Given the description of an element on the screen output the (x, y) to click on. 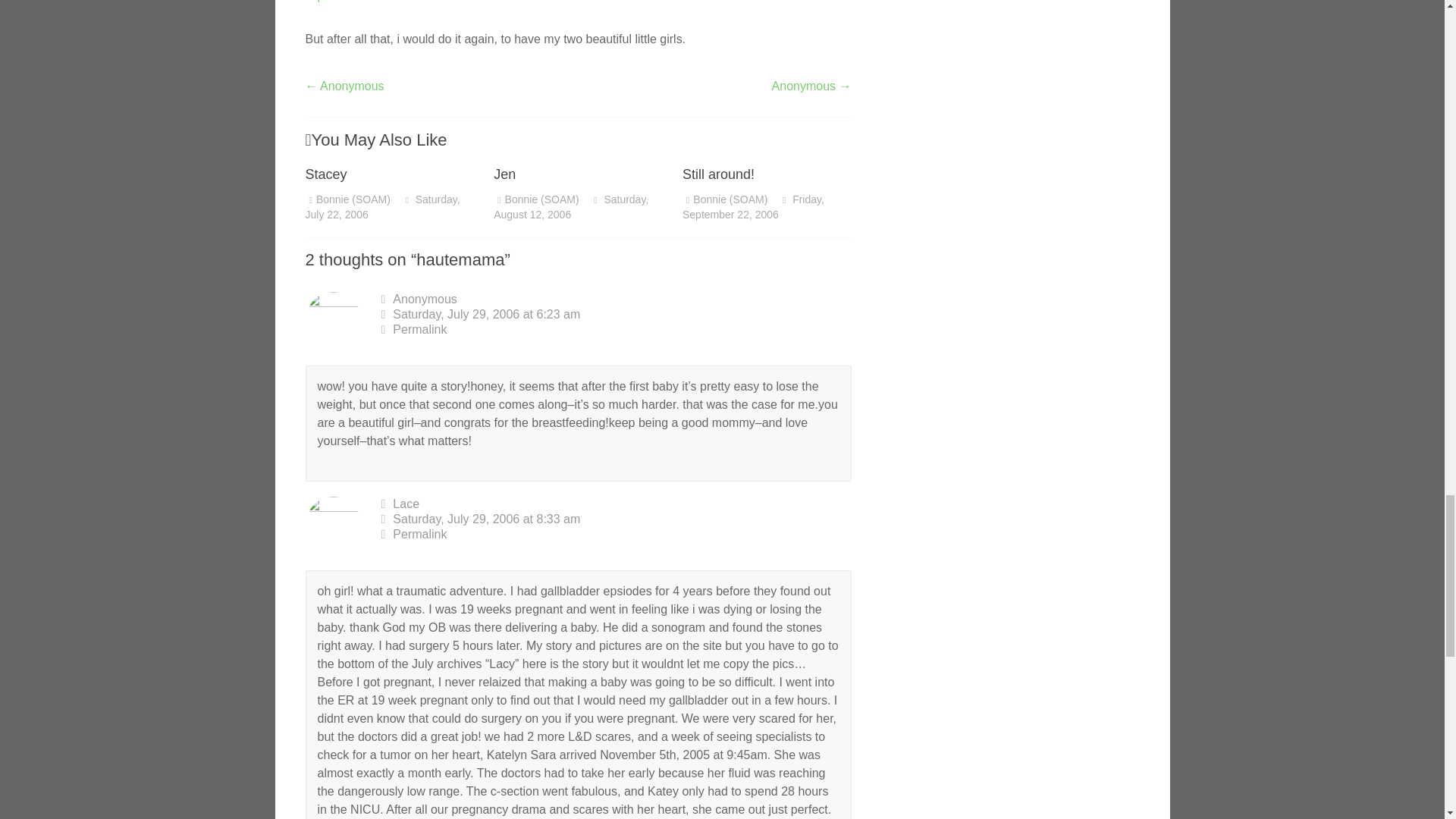
Jen (504, 174)
Friday, September 22, 2006 (753, 206)
Stacey (325, 174)
Saturday, August 12, 2006 (570, 206)
8:50 am (753, 206)
Stacey (325, 174)
9:01 am (570, 206)
Permalink (615, 329)
Jen (504, 174)
Permalink (615, 534)
Saturday, July 22, 2006 (382, 206)
Still around! (718, 174)
Still around! (718, 174)
6:49 pm (382, 206)
